Given the description of an element on the screen output the (x, y) to click on. 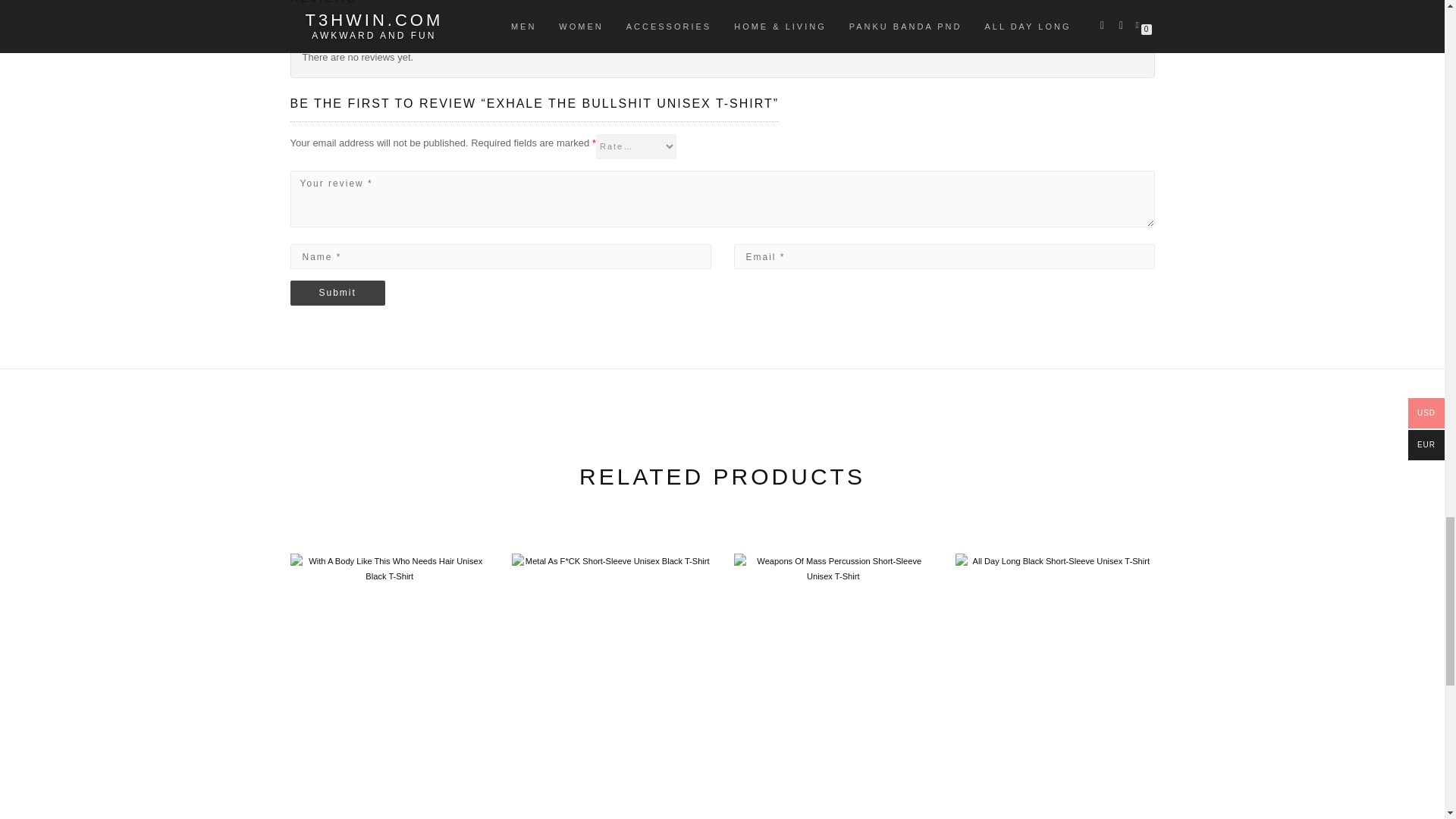
Weapons Of Mass Percussion Short-Sleeve Unisex T-Shirt (832, 678)
With A Body Like This Who Needs Hair Unisex Black T-Shirt (389, 678)
All Day Long Black Short-Sleeve Unisex T-Shirt (1054, 678)
Submit (336, 292)
